Given the description of an element on the screen output the (x, y) to click on. 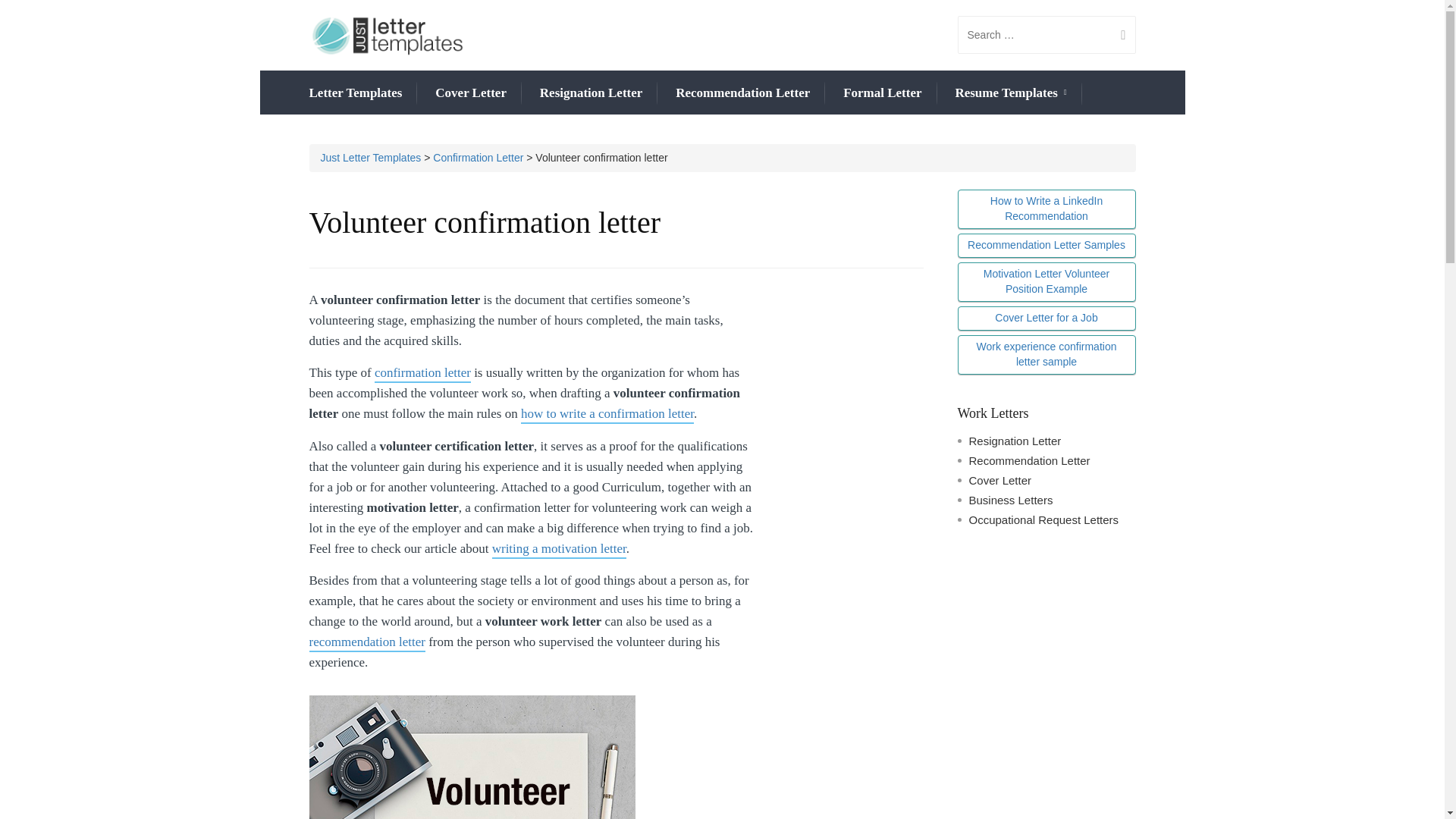
Resignation Letter (591, 92)
Letter Templates (355, 92)
Go to the Confirmation Letter Category archives. (477, 157)
recommendation letter (366, 642)
Search (1117, 34)
Search (1117, 34)
Confirmation Letter (477, 157)
confirmation letter (422, 374)
how to write a confirmation letter (607, 415)
Go to Just Letter Templates. (370, 157)
Cover Letter (470, 92)
Recommendation Letter (742, 92)
Formal Letter (882, 92)
Just Letter Templates (370, 157)
Resume Templates (1010, 93)
